Given the description of an element on the screen output the (x, y) to click on. 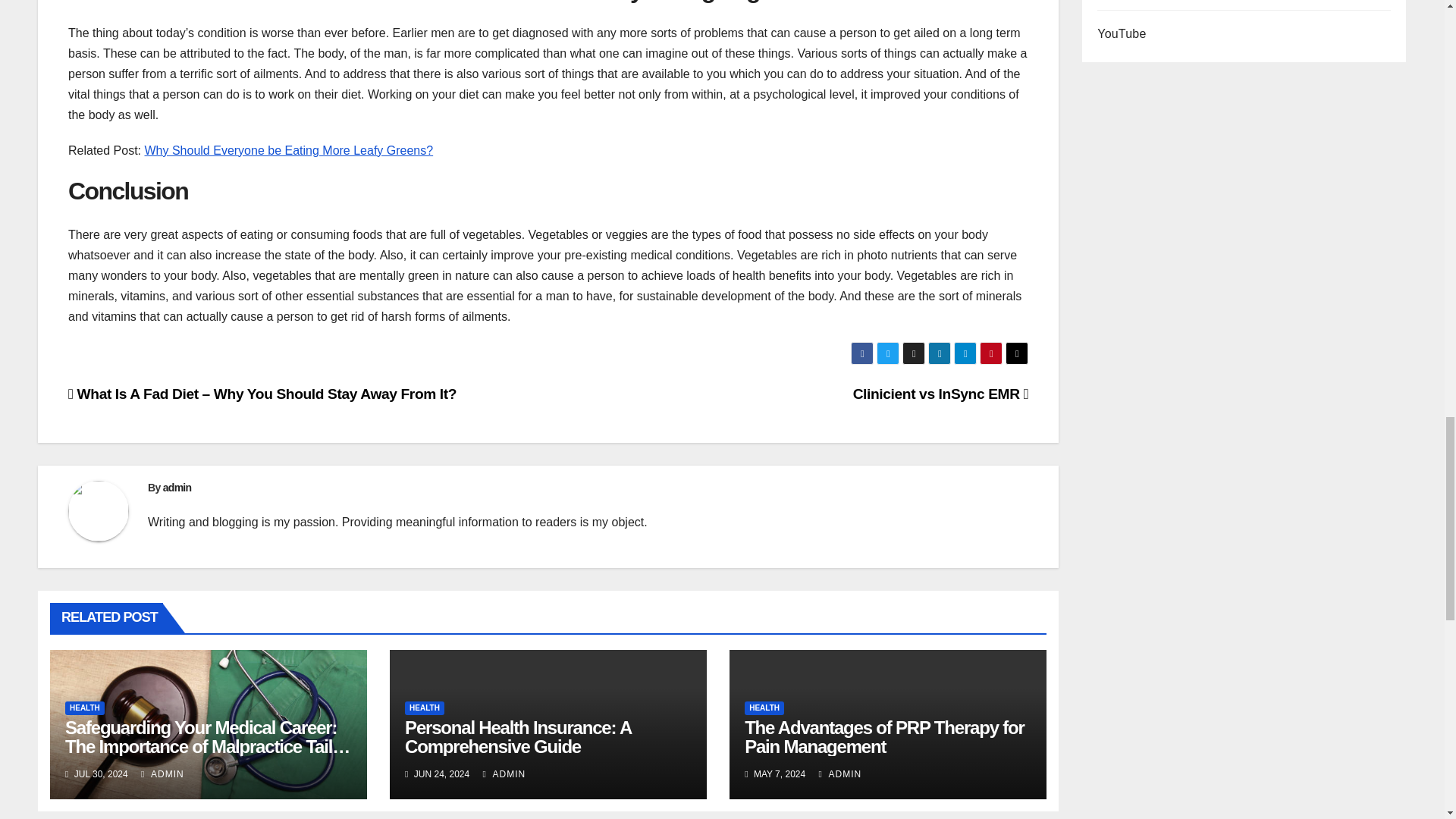
Why Should Everyone be Eating More Leafy Greens? (288, 150)
Clinicient vs InSync EMR (941, 393)
admin (177, 487)
HEALTH (84, 707)
